Given the description of an element on the screen output the (x, y) to click on. 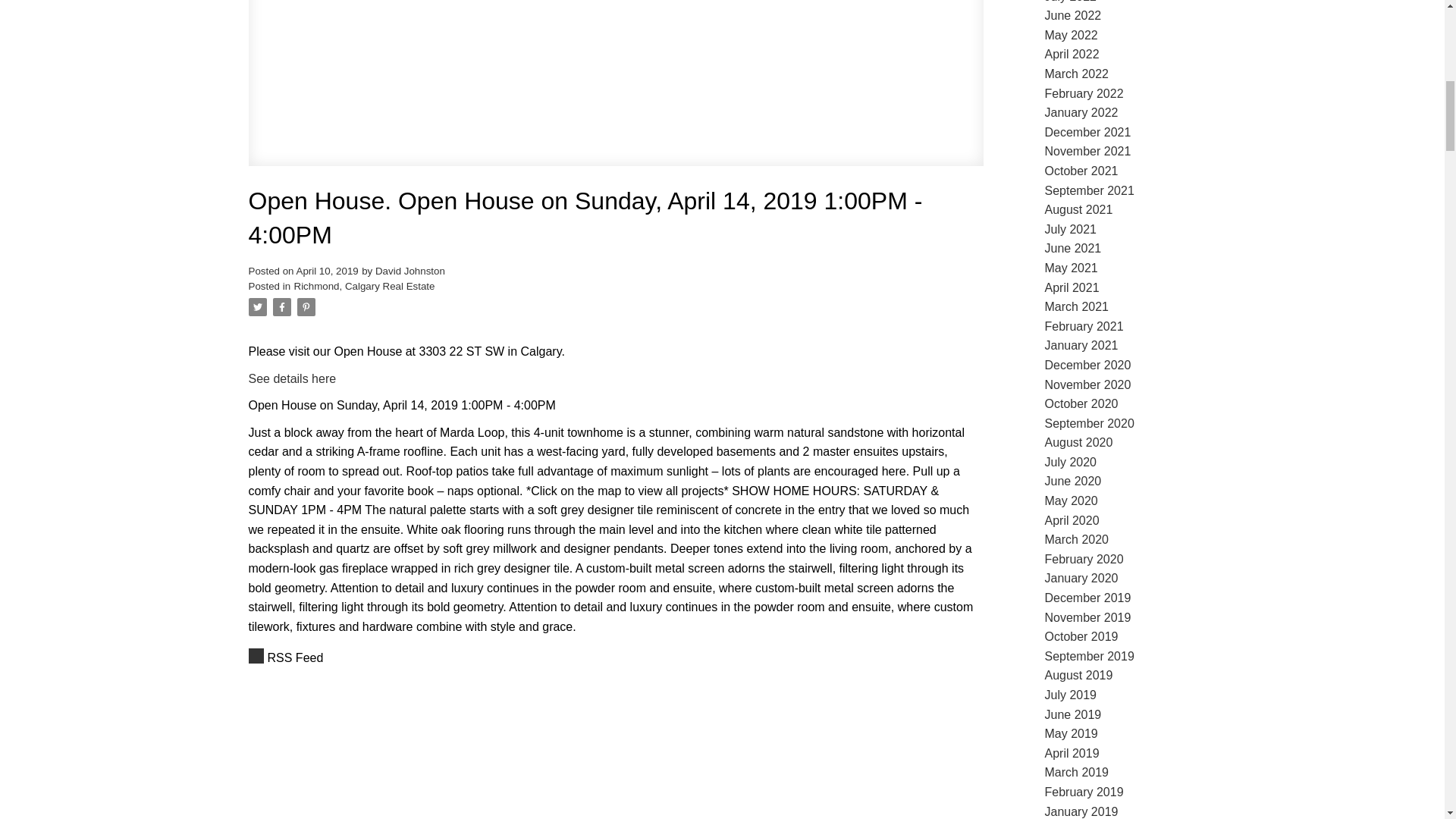
RSS (616, 658)
Richmond, Calgary Real Estate (364, 285)
See details here (292, 378)
